Given the description of an element on the screen output the (x, y) to click on. 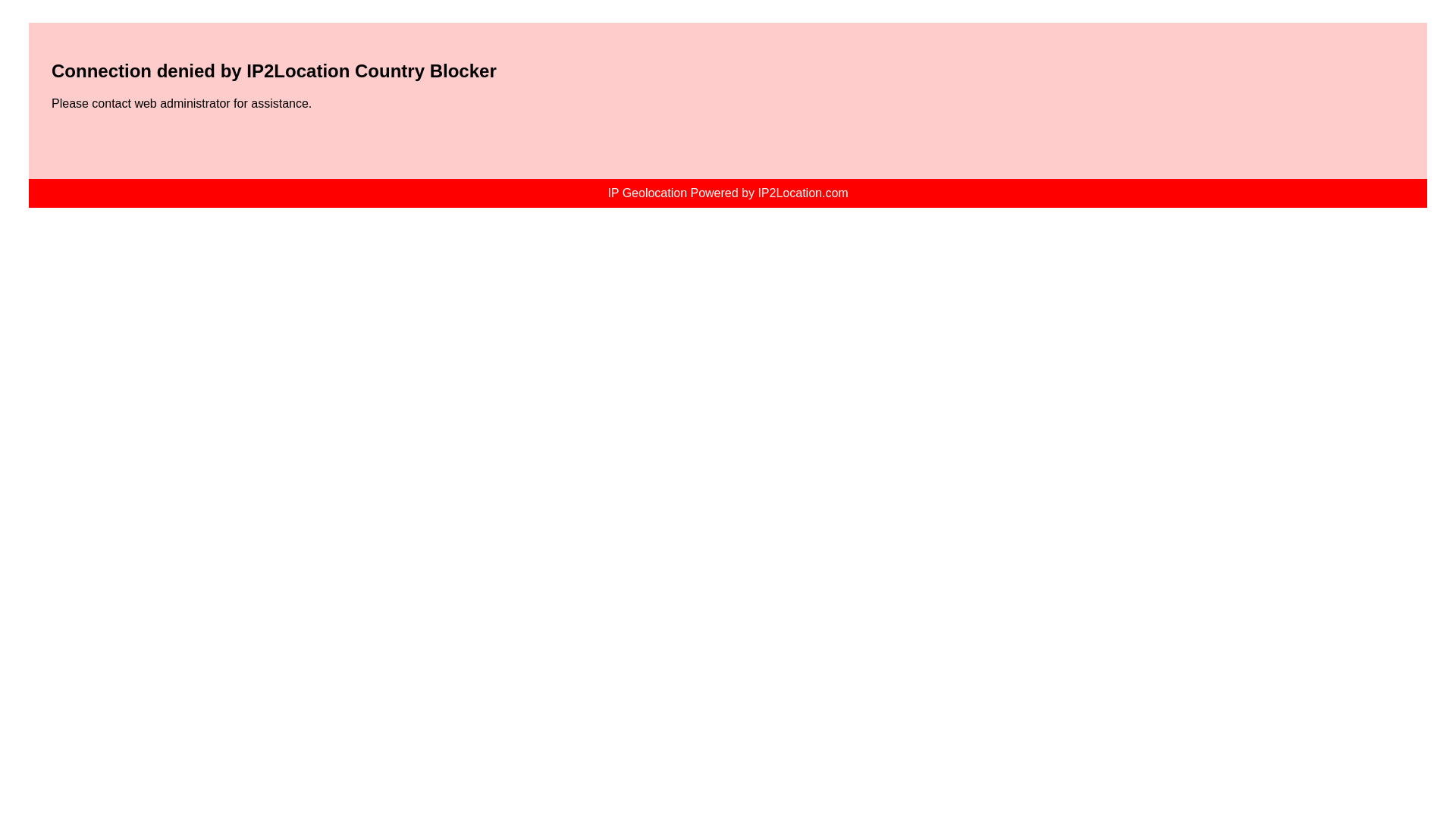
IP Geolocation Powered by IP2Location.com (727, 192)
